Given the description of an element on the screen output the (x, y) to click on. 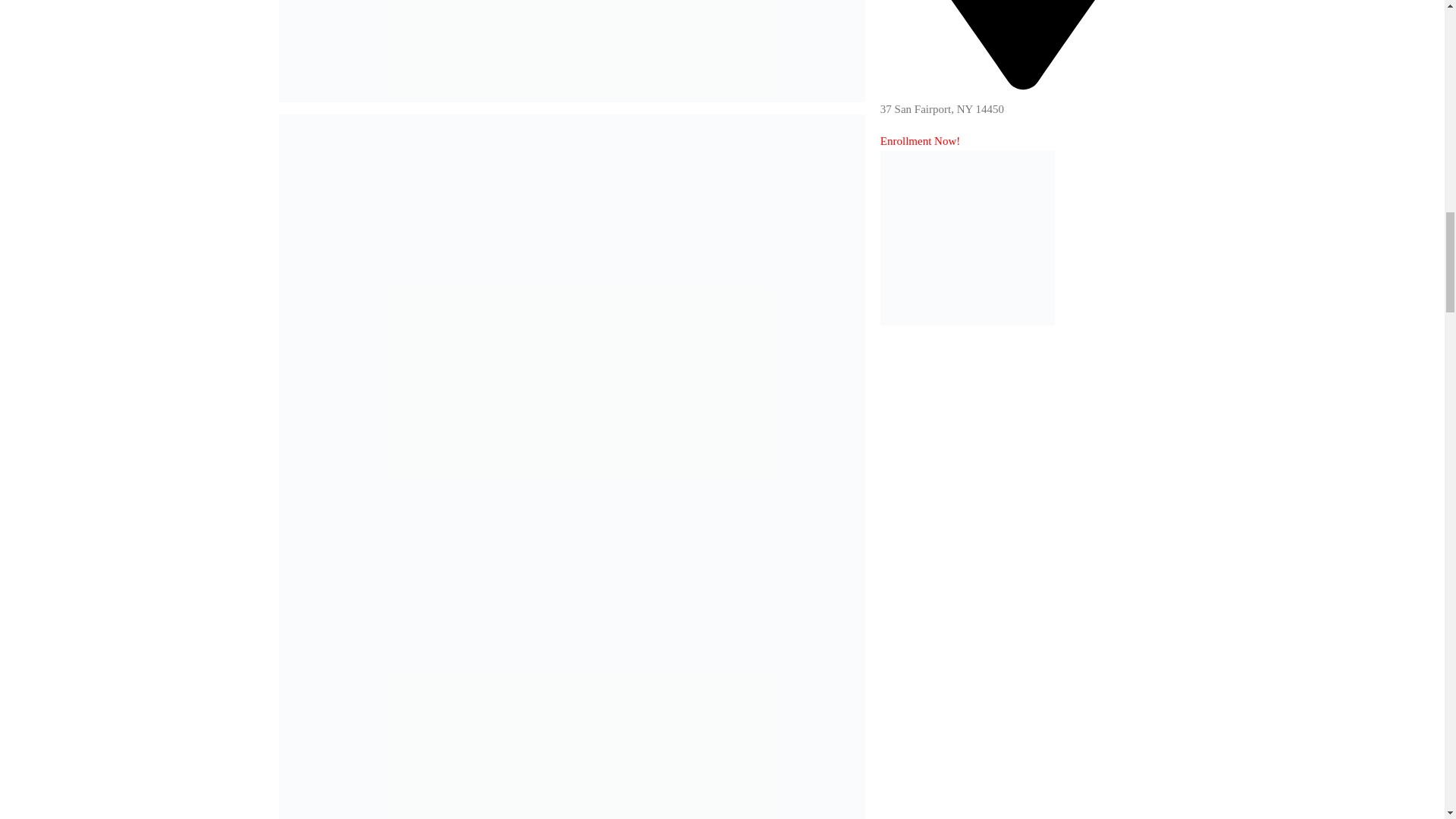
classes-5 (571, 51)
